Given the description of an element on the screen output the (x, y) to click on. 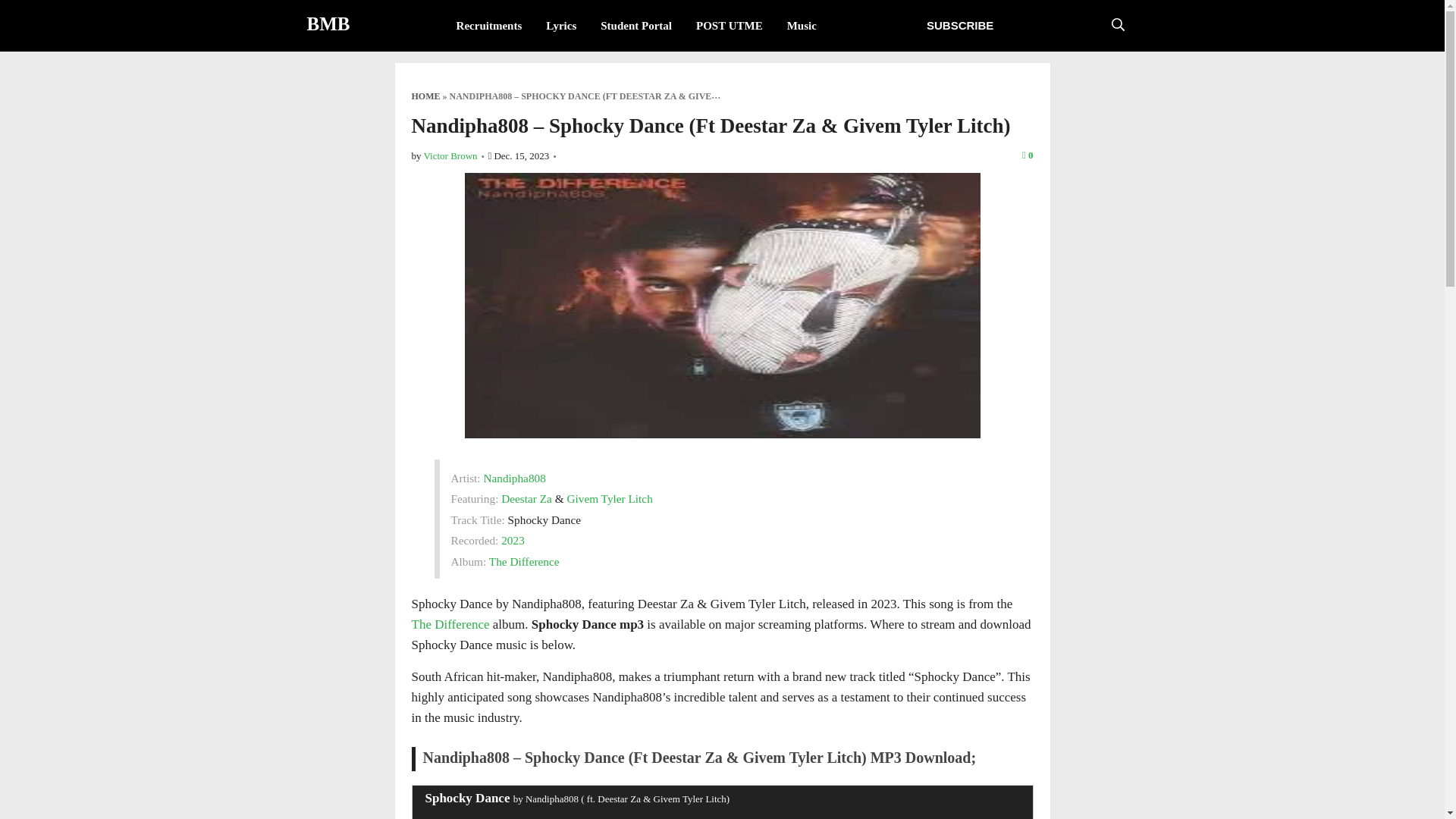
BMB (327, 23)
HOME (424, 95)
2023 (512, 540)
0 (1027, 154)
Posts by Victor Brown (450, 155)
Nandipha808 (513, 477)
The Difference (524, 561)
Lyrics (561, 25)
BMB (327, 23)
Recruitments (489, 25)
SUBSCRIBE (959, 25)
Deestar Za (525, 498)
Victor Brown (450, 155)
POST UTME (729, 25)
Givem Tyler Litch (609, 498)
